Given the description of an element on the screen output the (x, y) to click on. 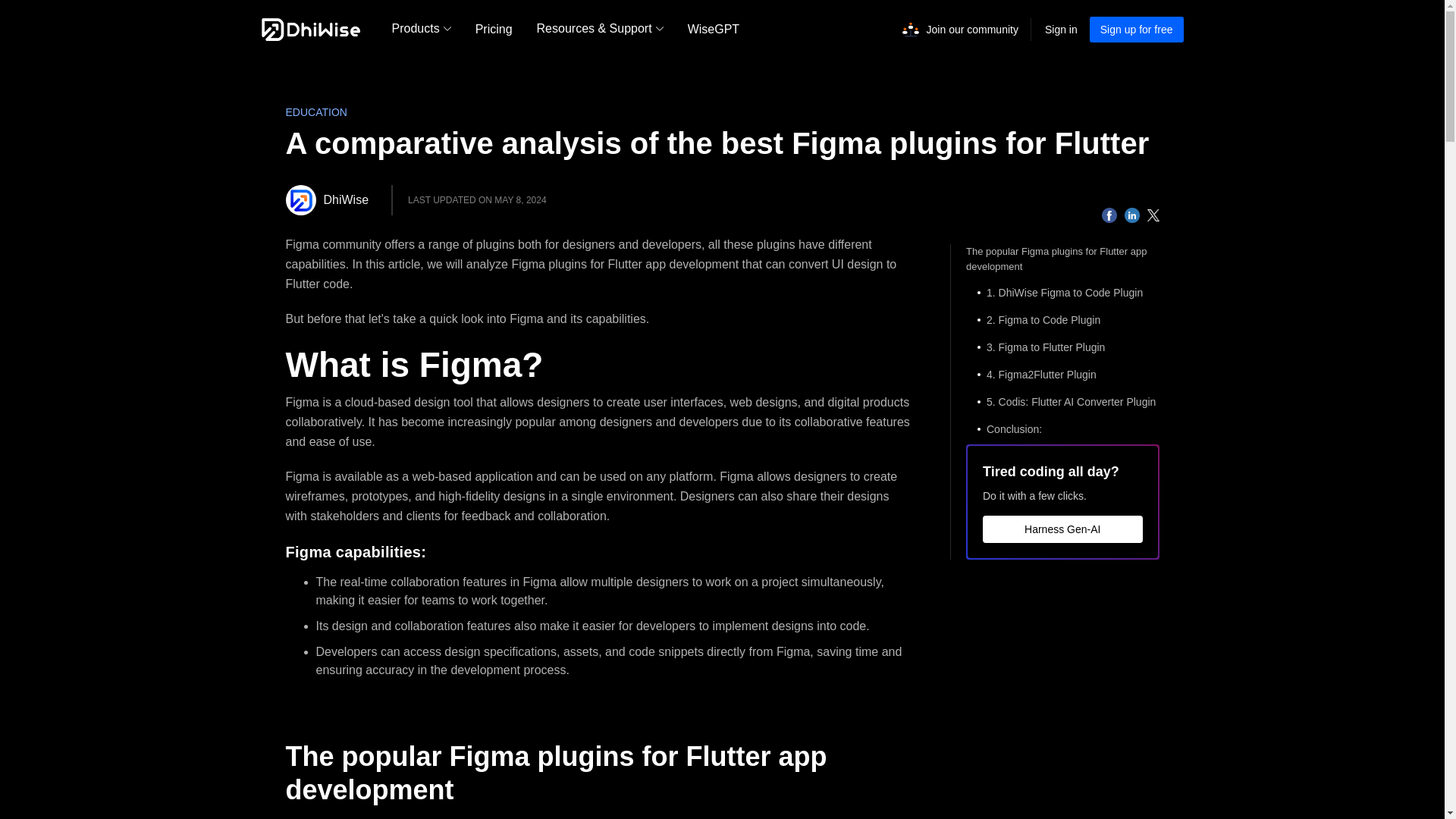
Share on LinkedIn (1131, 215)
Harness Gen-AI (1062, 528)
1. DhiWise Figma to Code Plugin (1062, 292)
Share on Facebook (1108, 215)
5. Codis: Flutter AI Converter Plugin (1062, 402)
Tweet (1152, 215)
The popular Figma plugins for Flutter app development  (1062, 259)
Join our community (972, 29)
Pricing (493, 29)
